Given the description of an element on the screen output the (x, y) to click on. 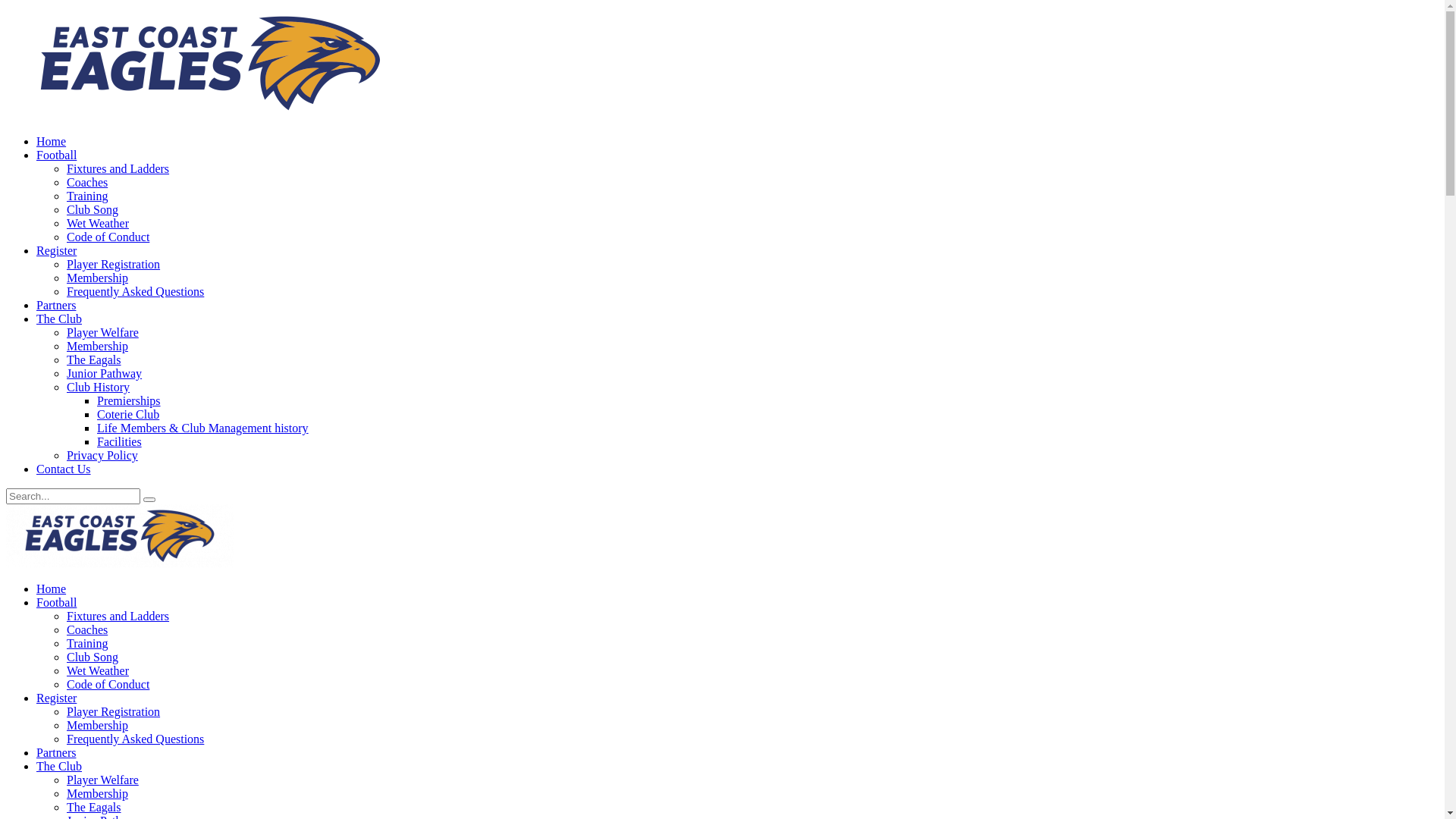
Fixtures and Ladders Element type: text (117, 615)
Club Song Element type: text (92, 656)
The Eagals Element type: text (93, 359)
Fixtures and Ladders Element type: text (117, 168)
Code of Conduct Element type: text (107, 236)
Training Element type: text (87, 643)
Frequently Asked Questions Element type: text (134, 738)
Player Registration Element type: text (113, 711)
Partners Element type: text (55, 752)
Training Element type: text (87, 195)
The Club Element type: text (58, 318)
Code of Conduct Element type: text (107, 683)
Premierships Element type: text (128, 400)
Football Element type: text (56, 602)
Facilities Element type: text (119, 441)
Club History Element type: text (97, 386)
Player Welfare Element type: text (102, 332)
Coaches Element type: text (86, 629)
Home Element type: text (50, 140)
Coaches Element type: text (86, 181)
The Club Element type: text (58, 765)
Player Welfare Element type: text (102, 779)
Privacy Policy Element type: text (102, 454)
Football Element type: text (56, 154)
Contact Us Element type: text (63, 468)
Partners Element type: text (55, 304)
Membership Element type: text (97, 345)
Coterie Club Element type: text (128, 413)
Register Element type: text (56, 697)
Register Element type: text (56, 250)
Membership Element type: text (97, 793)
Membership Element type: text (97, 724)
Wet Weather Element type: text (97, 222)
Life Members & Club Management history Element type: text (202, 427)
Club Song Element type: text (92, 209)
Wet Weather Element type: text (97, 670)
Junior Pathway Element type: text (103, 373)
Membership Element type: text (97, 277)
Frequently Asked Questions Element type: text (134, 291)
Home Element type: text (50, 588)
The Eagals Element type: text (93, 806)
Player Registration Element type: text (113, 263)
